Given the description of an element on the screen output the (x, y) to click on. 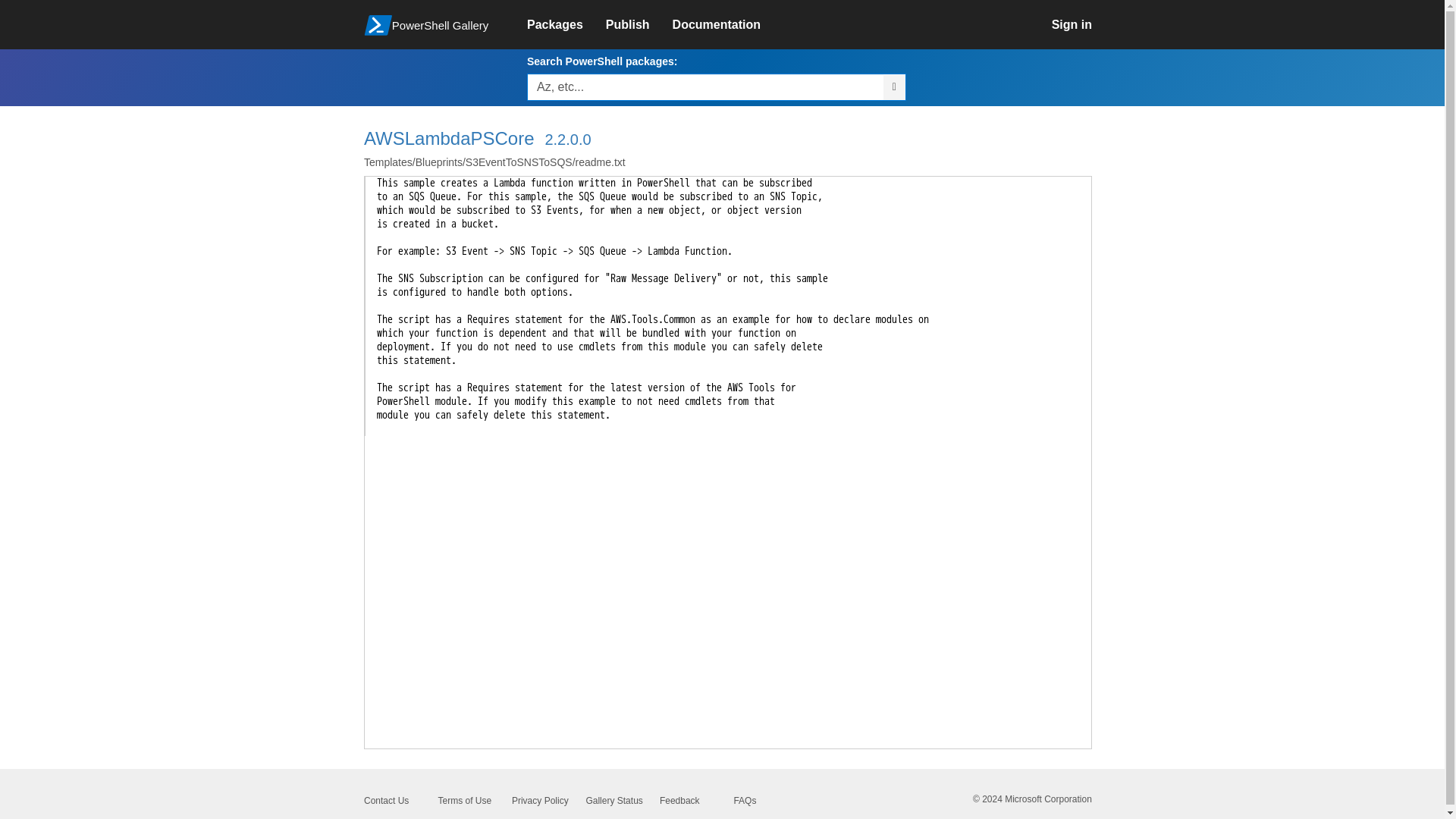
Documentation (727, 24)
Contact Us (386, 800)
Terms of Use (465, 800)
PowerShell Gallery (436, 23)
AWSLambdaPSCore (449, 137)
Privacy Policy (540, 800)
Sign in (1083, 24)
FAQs (744, 800)
Publish (638, 24)
Gallery Status (613, 800)
